Given the description of an element on the screen output the (x, y) to click on. 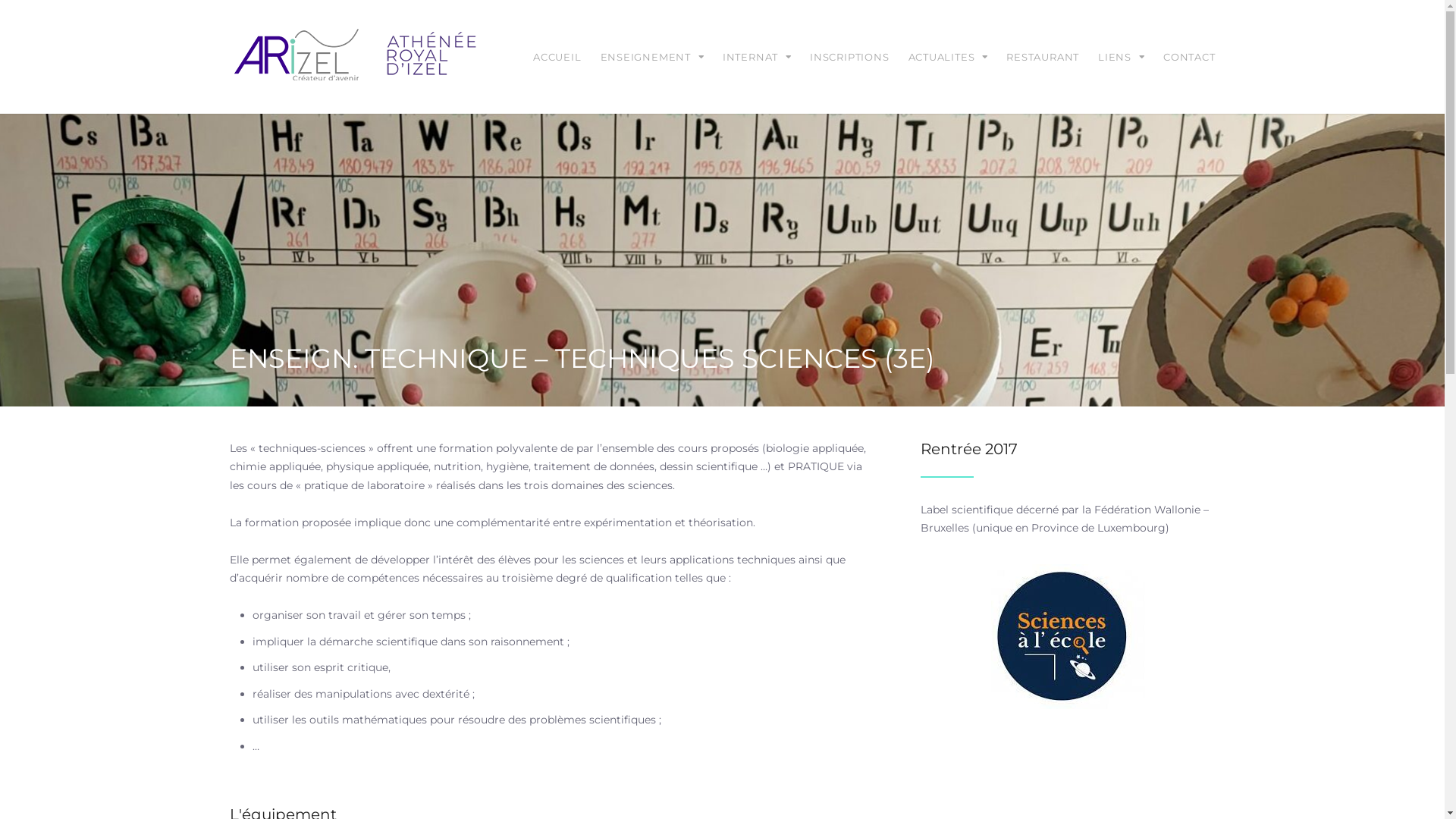
LIENS Element type: text (1121, 56)
INTERNAT Element type: text (756, 56)
RESTAURANT Element type: text (1042, 56)
CONTACT Element type: text (1188, 56)
INSCRIPTIONS Element type: text (848, 56)
ENSEIGNEMENT Element type: text (651, 56)
ACTUALITES Element type: text (948, 56)
ACCUEIL Element type: text (556, 56)
